Given the description of an element on the screen output the (x, y) to click on. 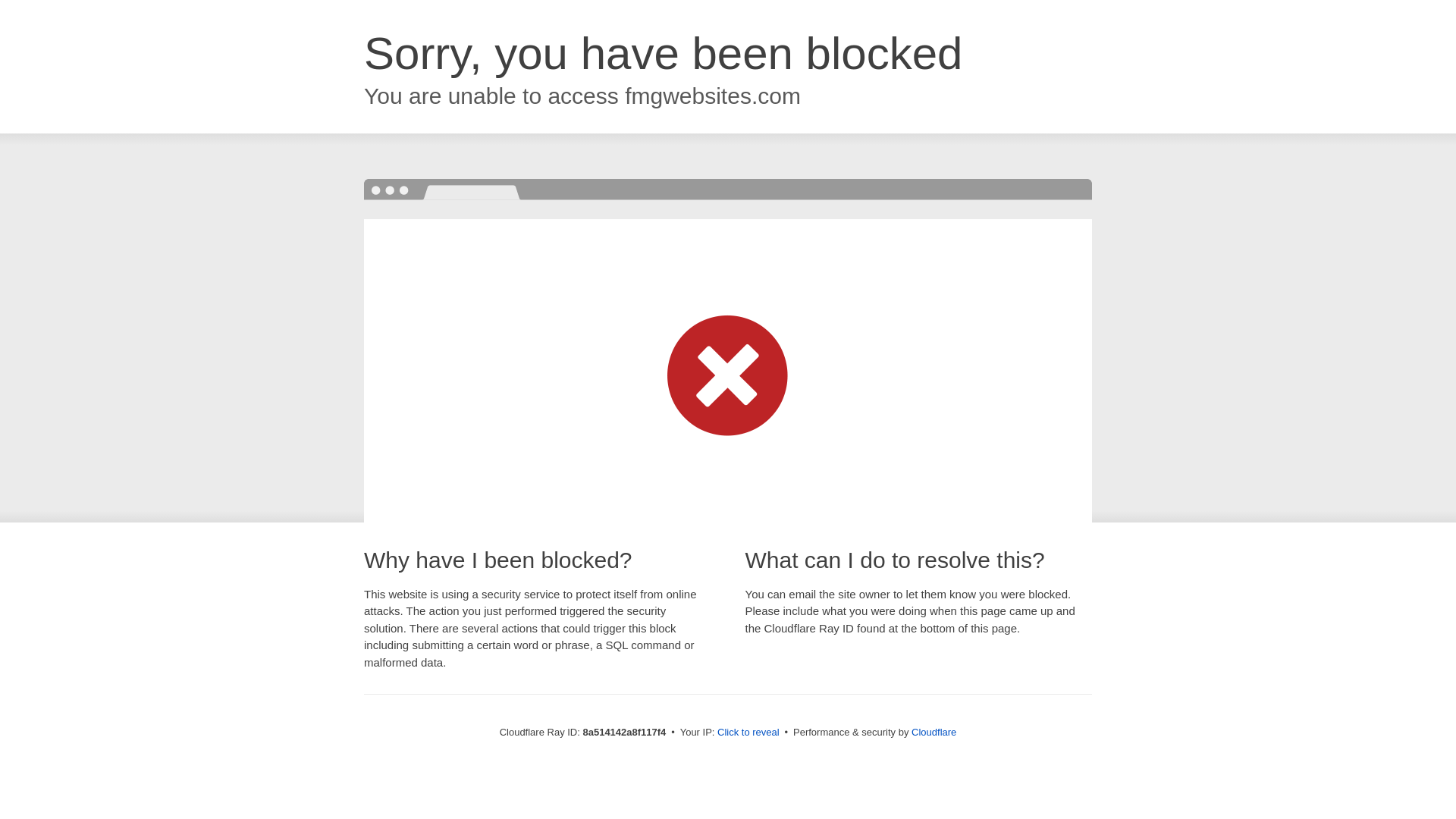
Click to reveal (747, 732)
Cloudflare (933, 731)
